Given the description of an element on the screen output the (x, y) to click on. 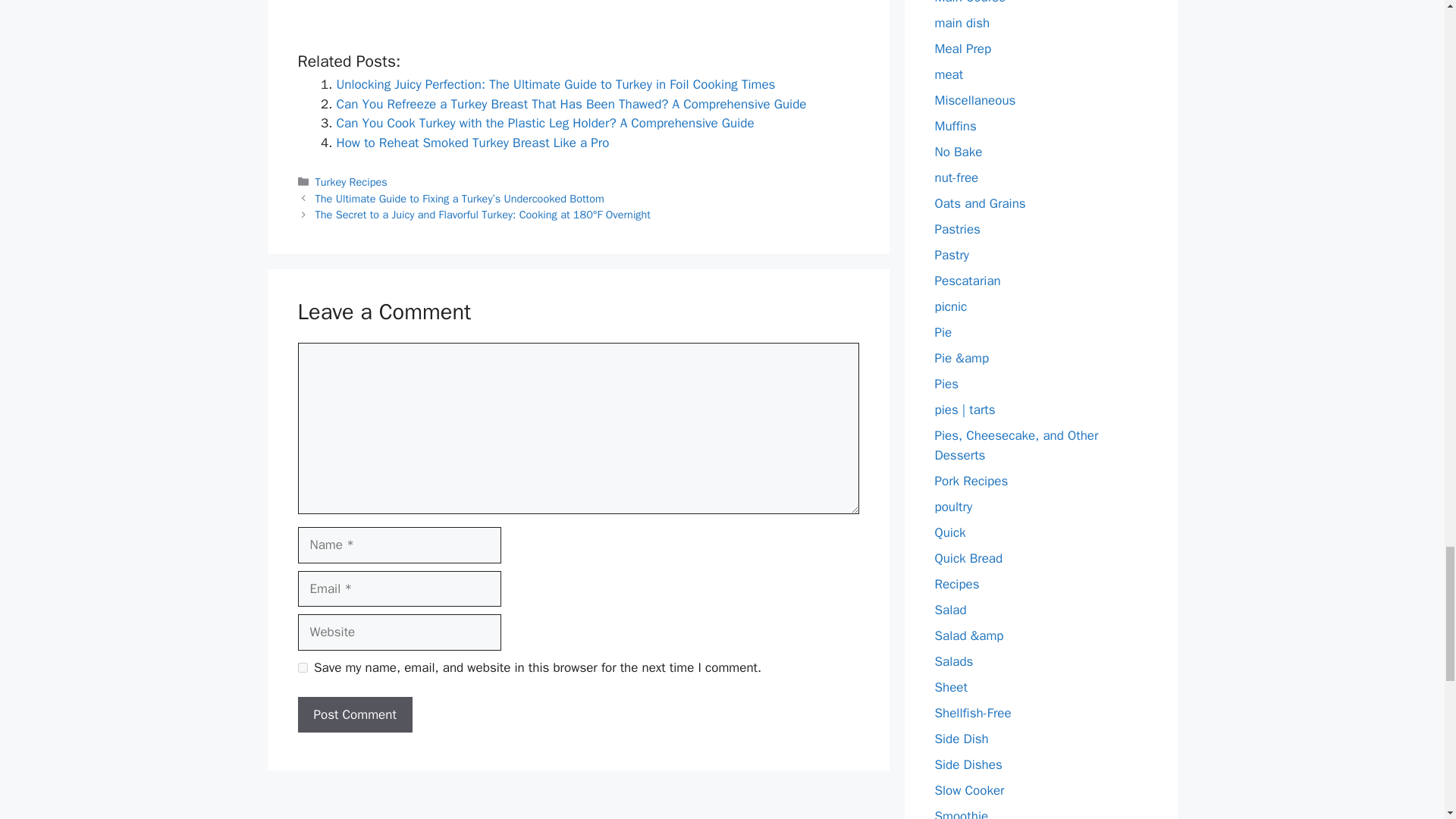
How to Reheat Smoked Turkey Breast Like a Pro (473, 142)
Post Comment (354, 714)
Turkey Recipes (351, 182)
Previous (459, 198)
Post Comment (354, 714)
